Given the description of an element on the screen output the (x, y) to click on. 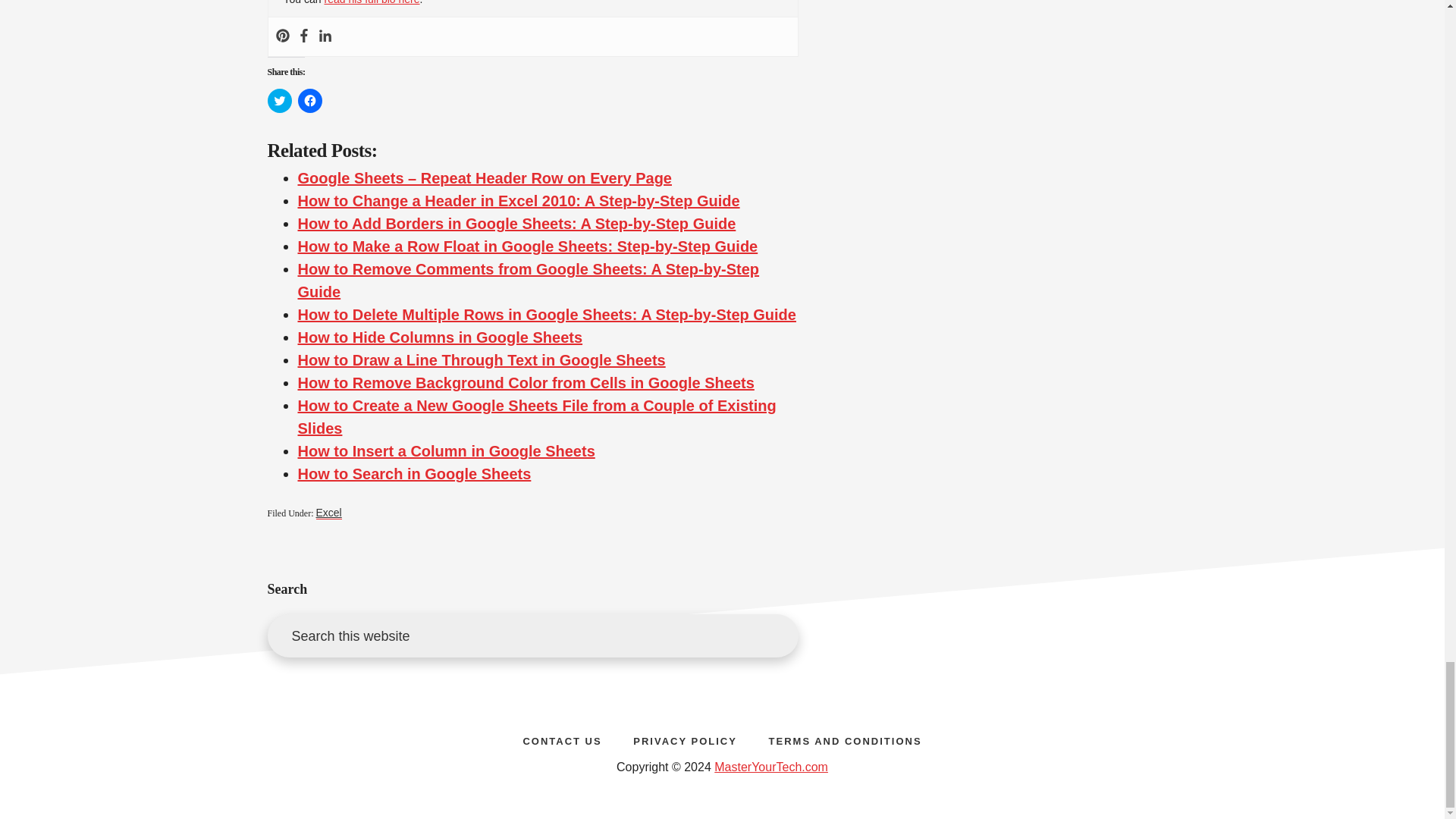
How to Make a Row Float in Google Sheets: Step-by-Step Guide (527, 246)
How to Remove Background Color from Cells in Google Sheets (525, 382)
How to Insert a Column in Google Sheets (445, 451)
How to Add Borders in Google Sheets: A Step-by-Step Guide (516, 223)
read his full bio here (371, 2)
